Given the description of an element on the screen output the (x, y) to click on. 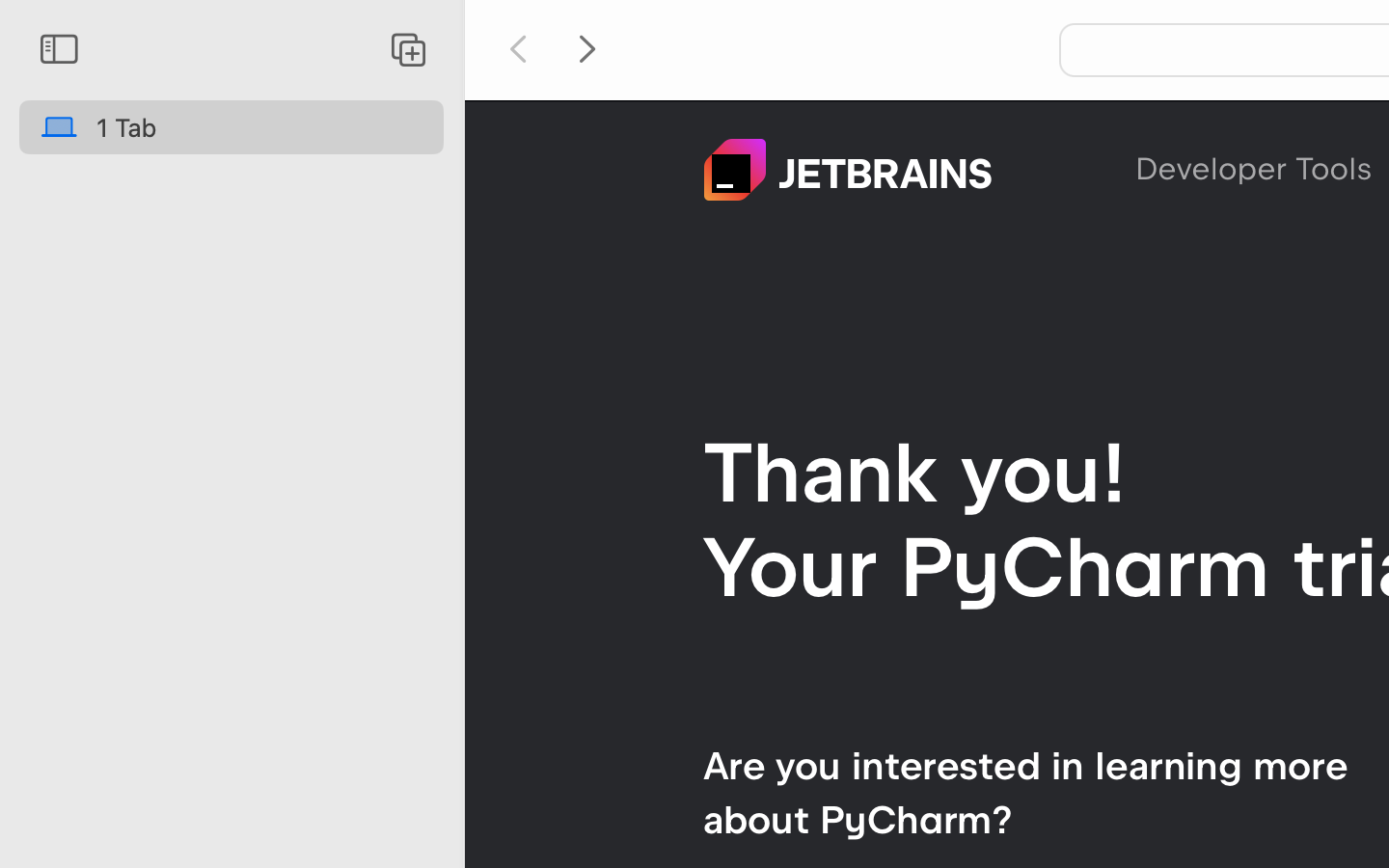
Are you interested in learning more about PyCharm? Element type: AXStaticText (1025, 792)
Thank you! Element type: AXStaticText (915, 472)
